Given the description of an element on the screen output the (x, y) to click on. 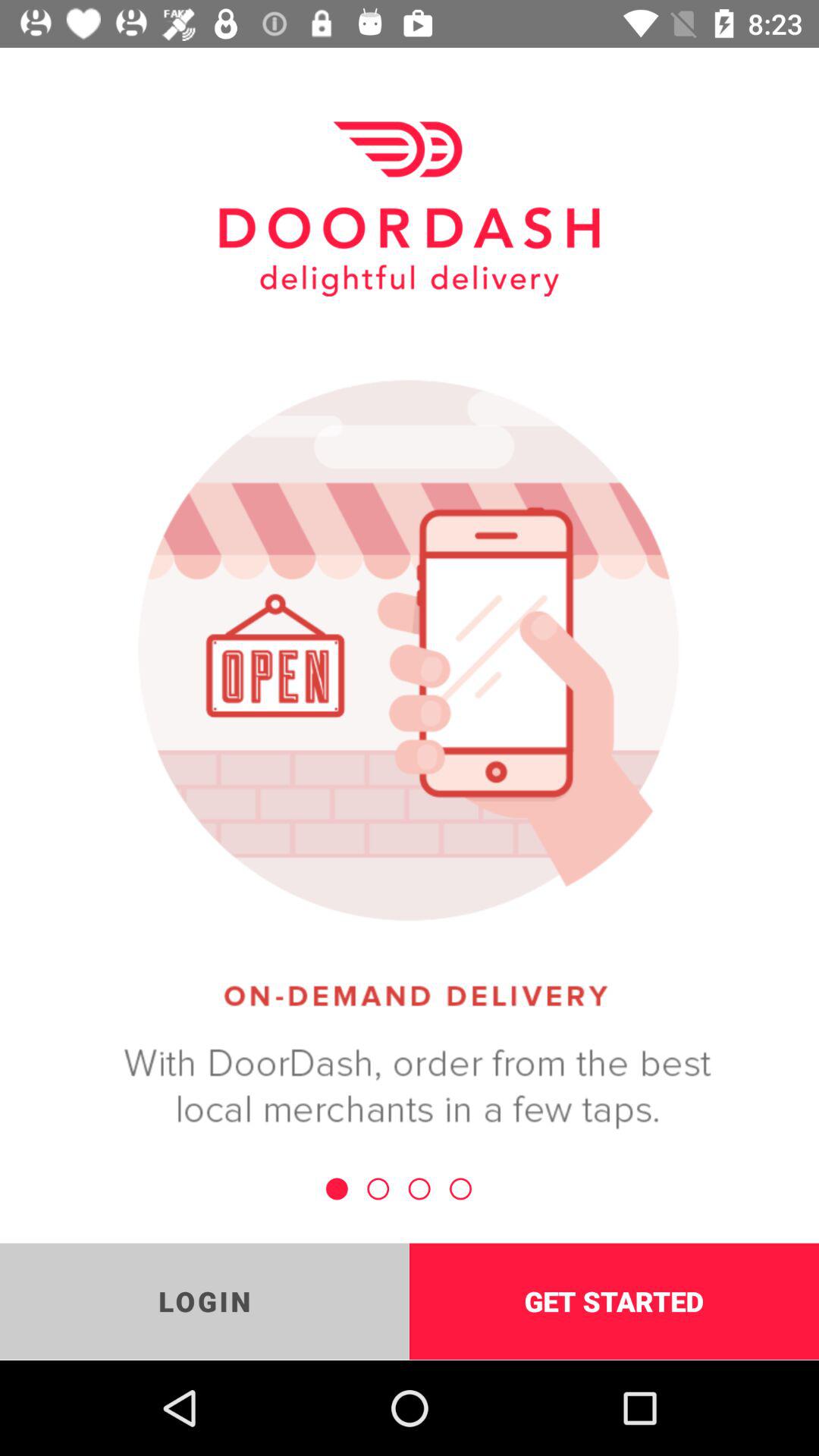
launch icon at the bottom left corner (204, 1301)
